Given the description of an element on the screen output the (x, y) to click on. 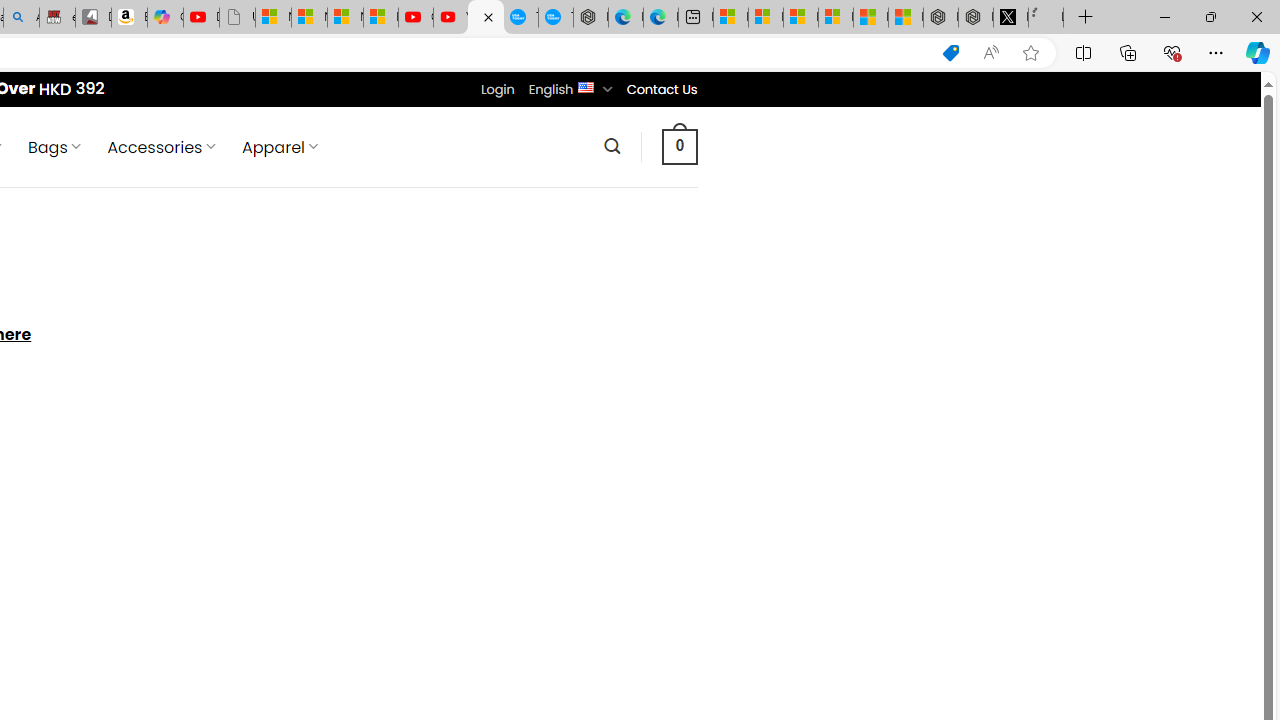
Untitled (1046, 17)
English (586, 86)
Nordace - Contact Us (485, 17)
